Given the description of an element on the screen output the (x, y) to click on. 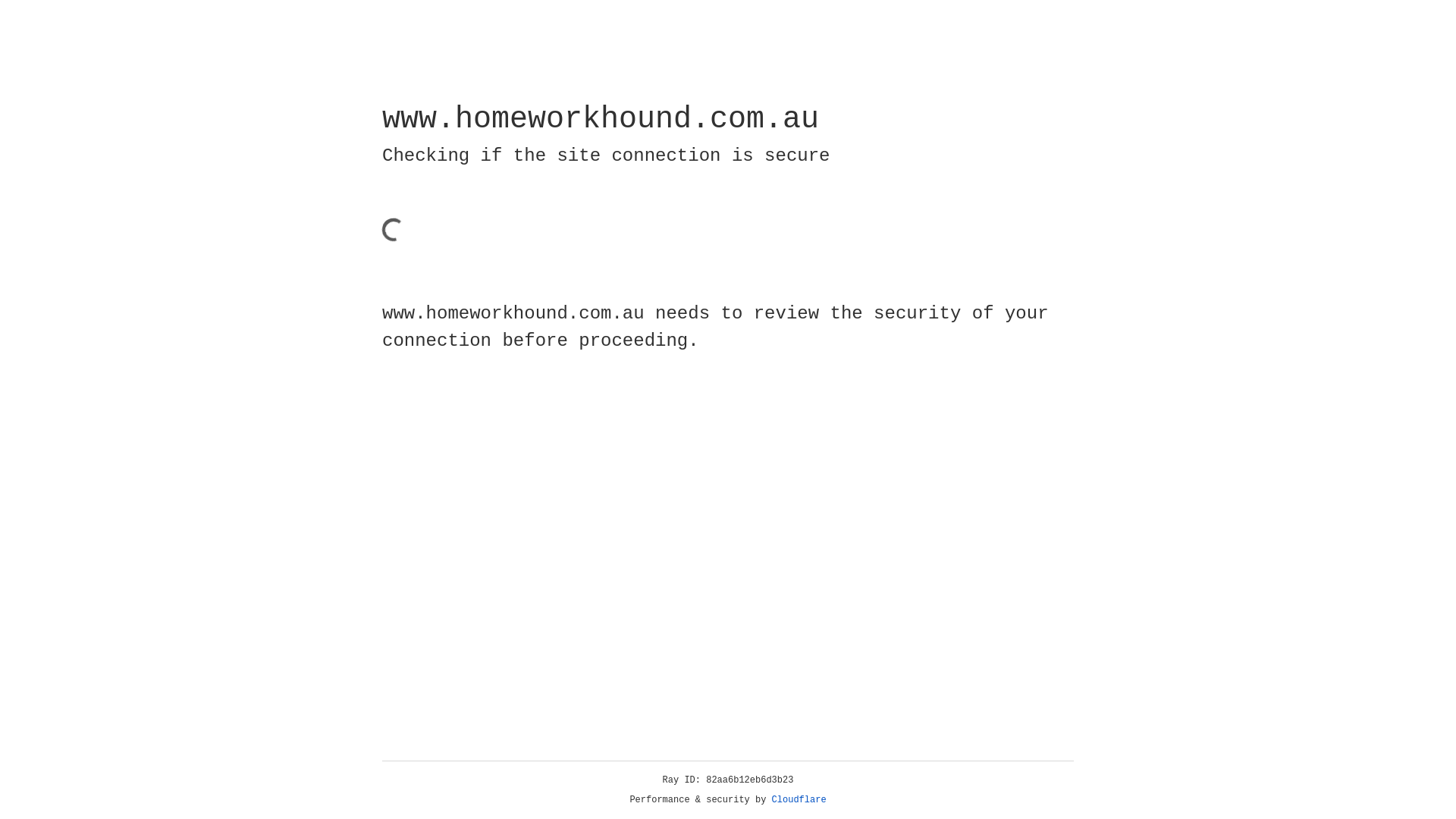
Cloudflare Element type: text (798, 799)
